Given the description of an element on the screen output the (x, y) to click on. 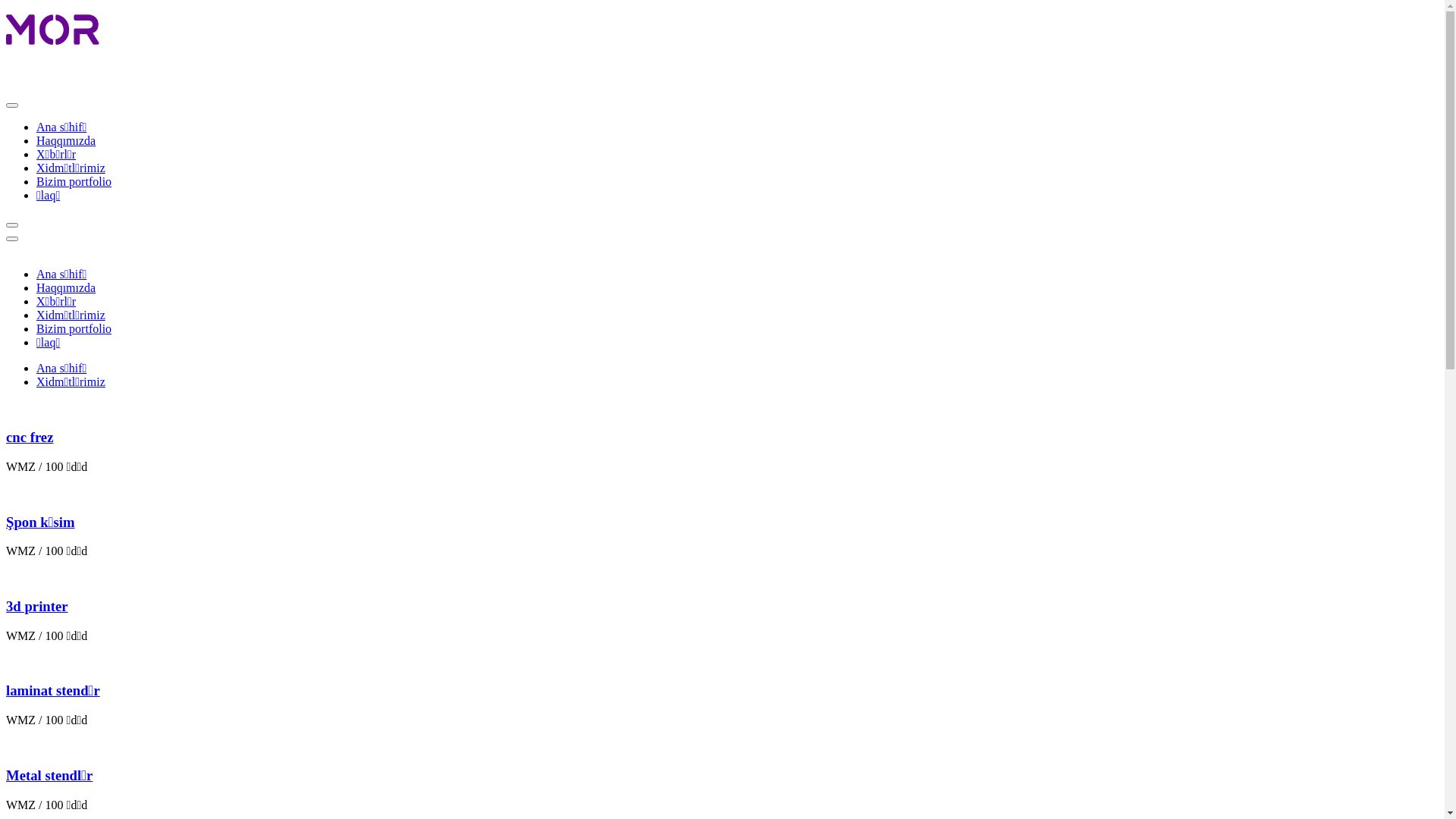
Bizim portfolio Element type: text (73, 181)
cnc frez Element type: text (29, 437)
Bizim portfolio Element type: text (73, 328)
MOR GROUP Element type: hover (62, 73)
3d printer Element type: text (37, 606)
MOR GROUP Element type: hover (81, 29)
